Given the description of an element on the screen output the (x, y) to click on. 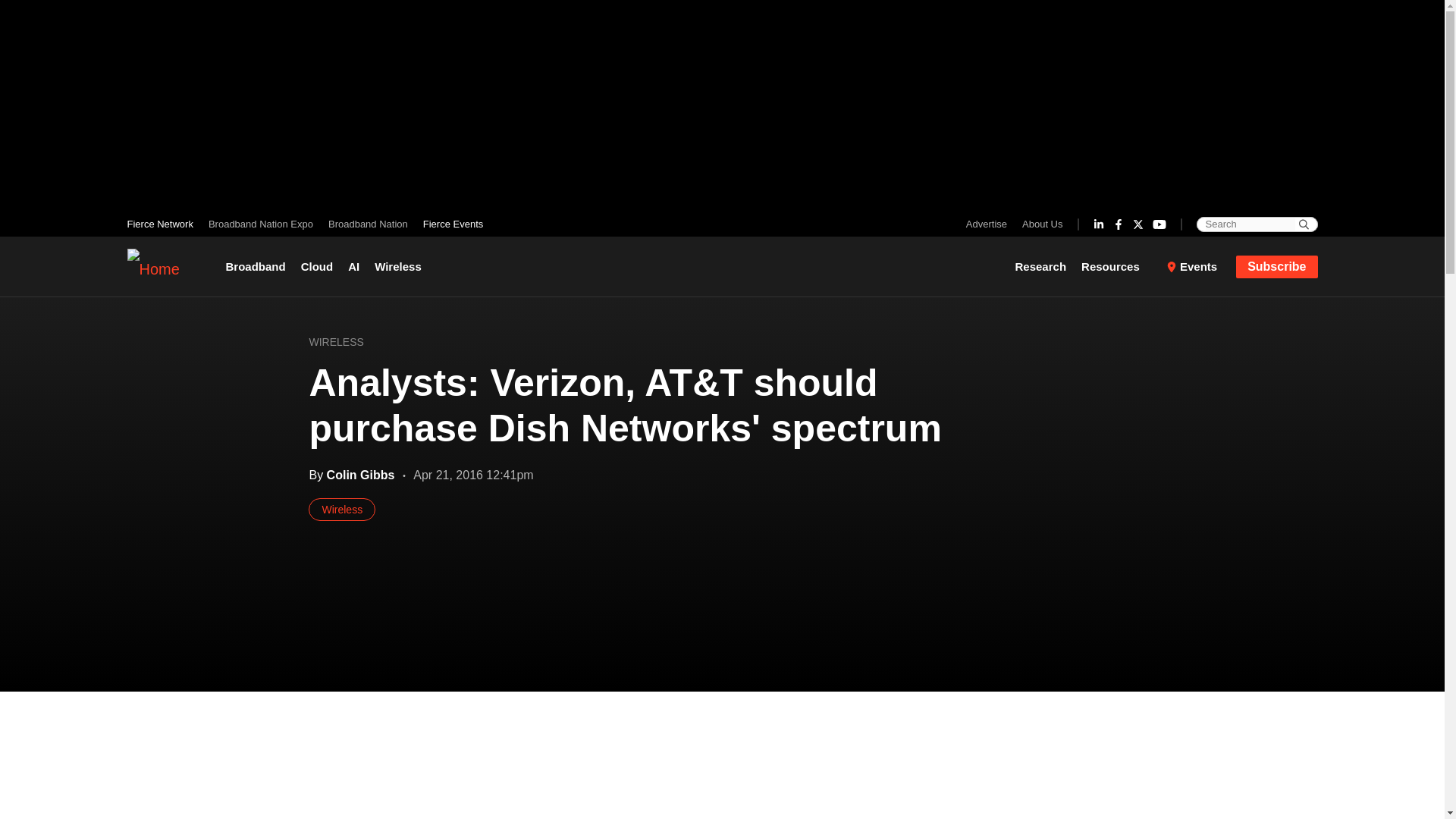
Resources (1116, 266)
Broadband Nation (367, 224)
About Us (1038, 224)
Cloud (317, 266)
Wireless (397, 266)
Fierce Events (448, 224)
Broadband Nation Expo (260, 224)
Research (1044, 266)
Subscribe (1276, 265)
Fierce Network (164, 224)
